Given the description of an element on the screen output the (x, y) to click on. 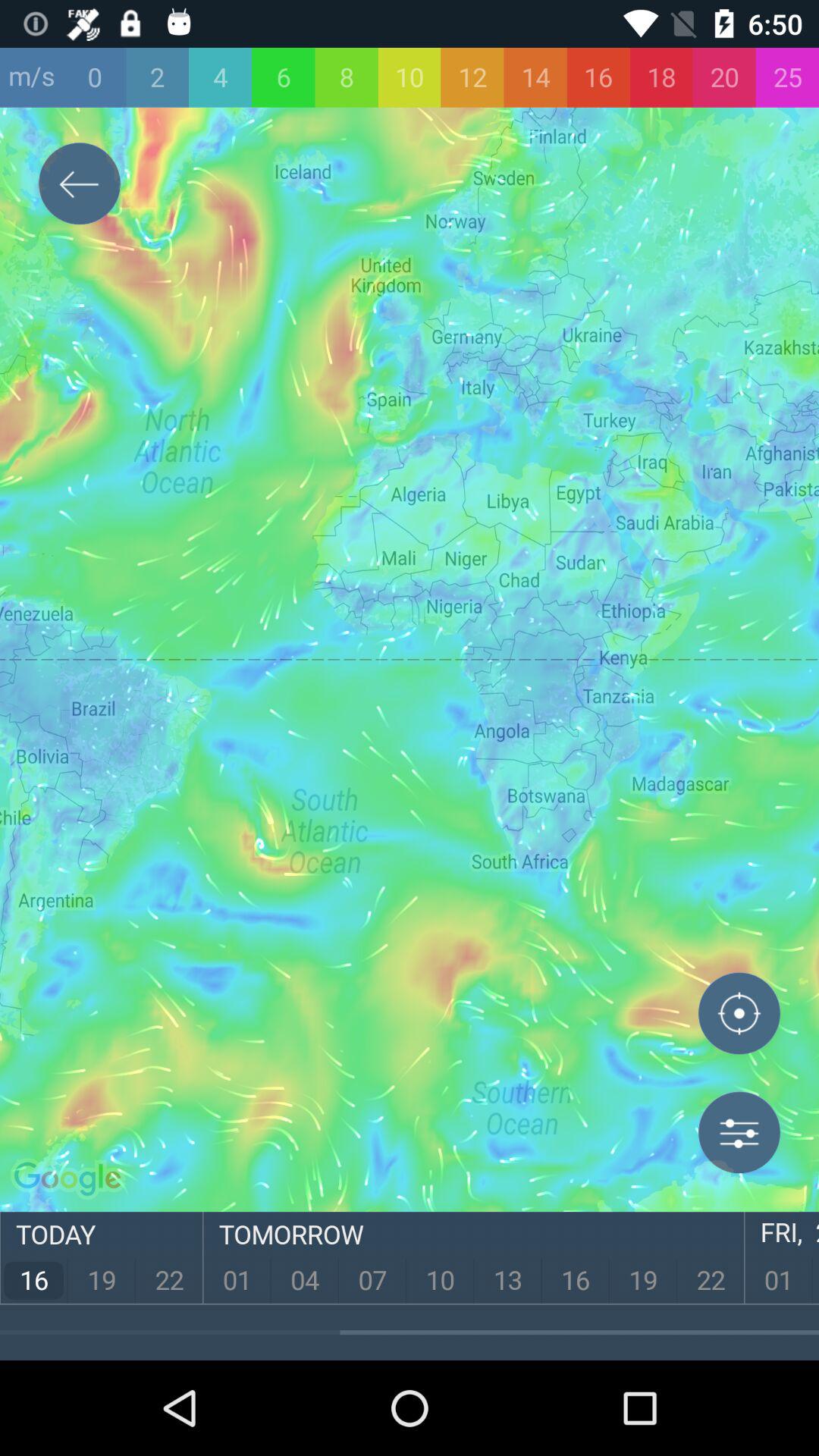
go back (79, 186)
